Given the description of an element on the screen output the (x, y) to click on. 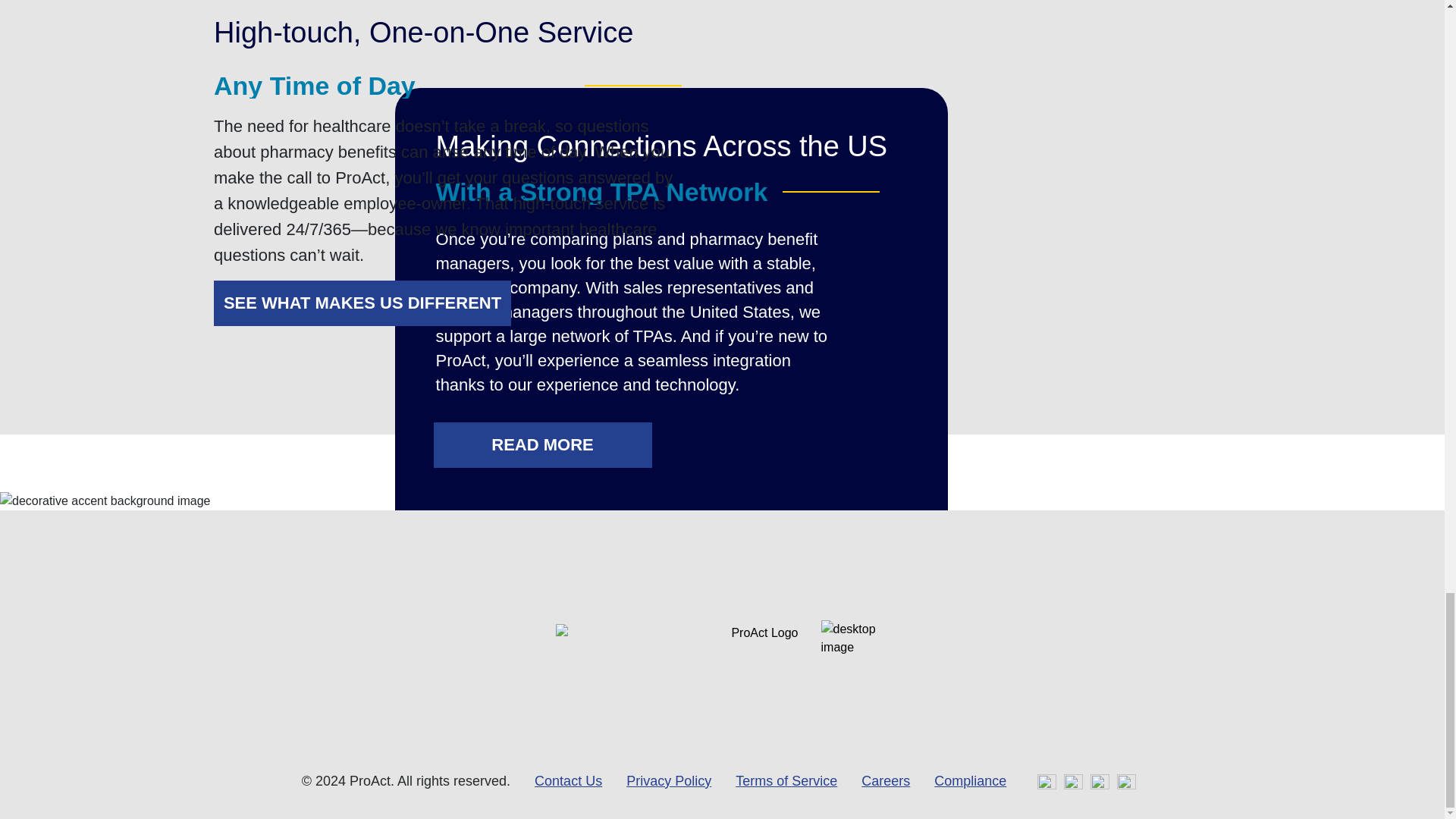
SEE WHAT MAKES US DIFFERENT (362, 302)
